Given the description of an element on the screen output the (x, y) to click on. 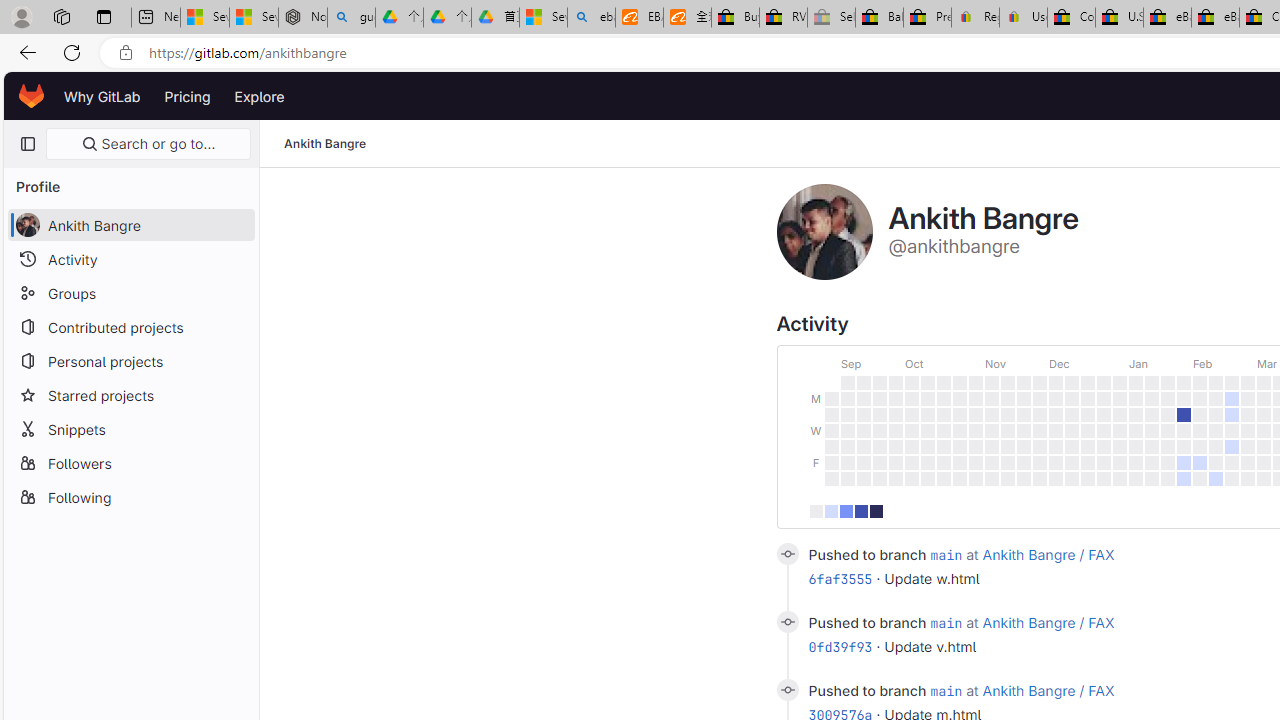
No contributions (815, 510)
guge yunpan - Search (351, 17)
Snippets (130, 428)
